Given the description of an element on the screen output the (x, y) to click on. 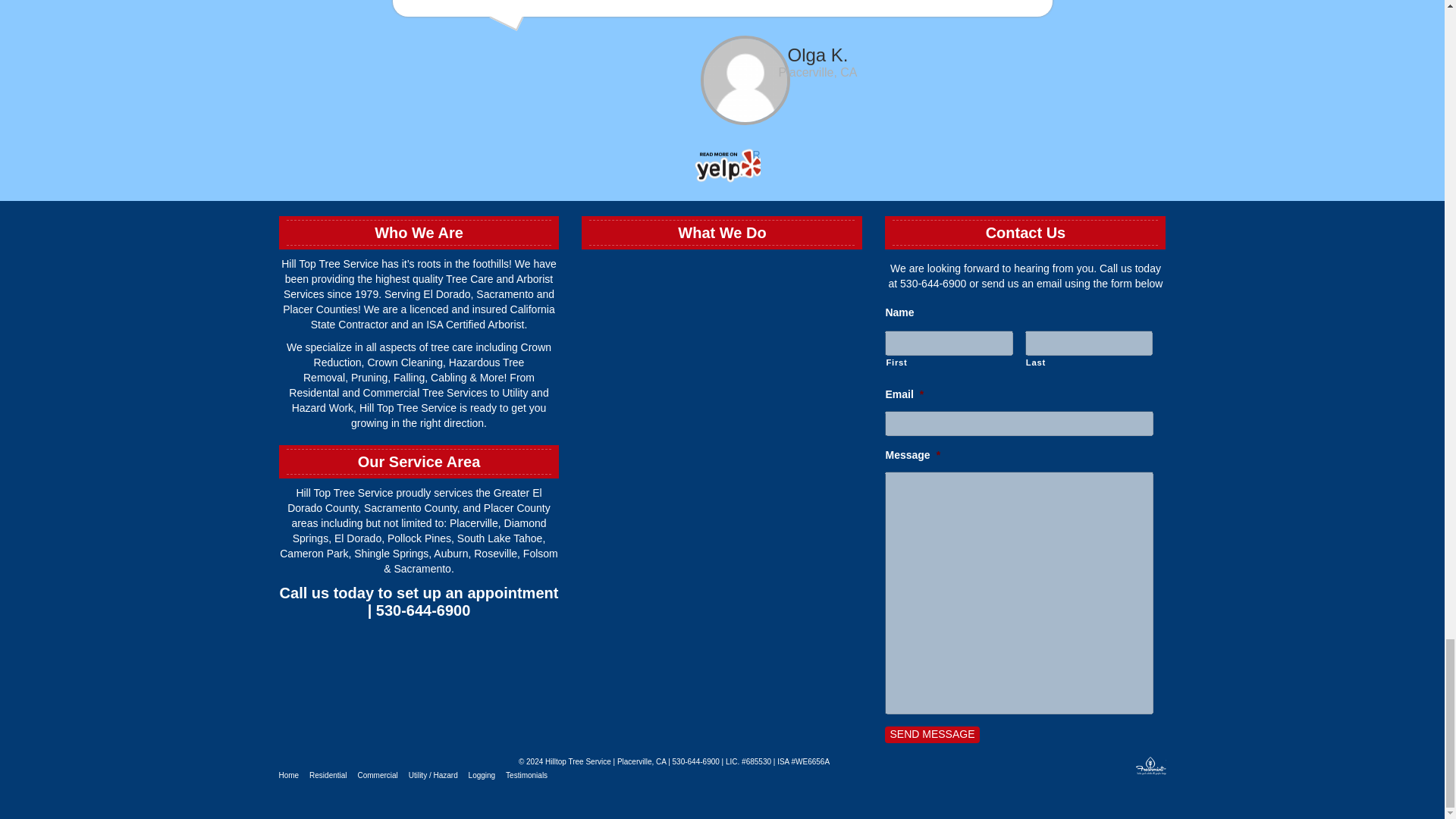
Hilltop Tree Service on Yelp (722, 166)
Home (289, 775)
Residential (327, 775)
SEND MESSAGE (931, 734)
SEND MESSAGE (931, 734)
Commercial (376, 775)
Logging (482, 775)
Testimonials (526, 775)
Read More Hilltop Tree Service Reviews On Yelp.Com (722, 166)
Website Design By Freshmint (1150, 767)
Site By Freshmint (1150, 767)
